Given the description of an element on the screen output the (x, y) to click on. 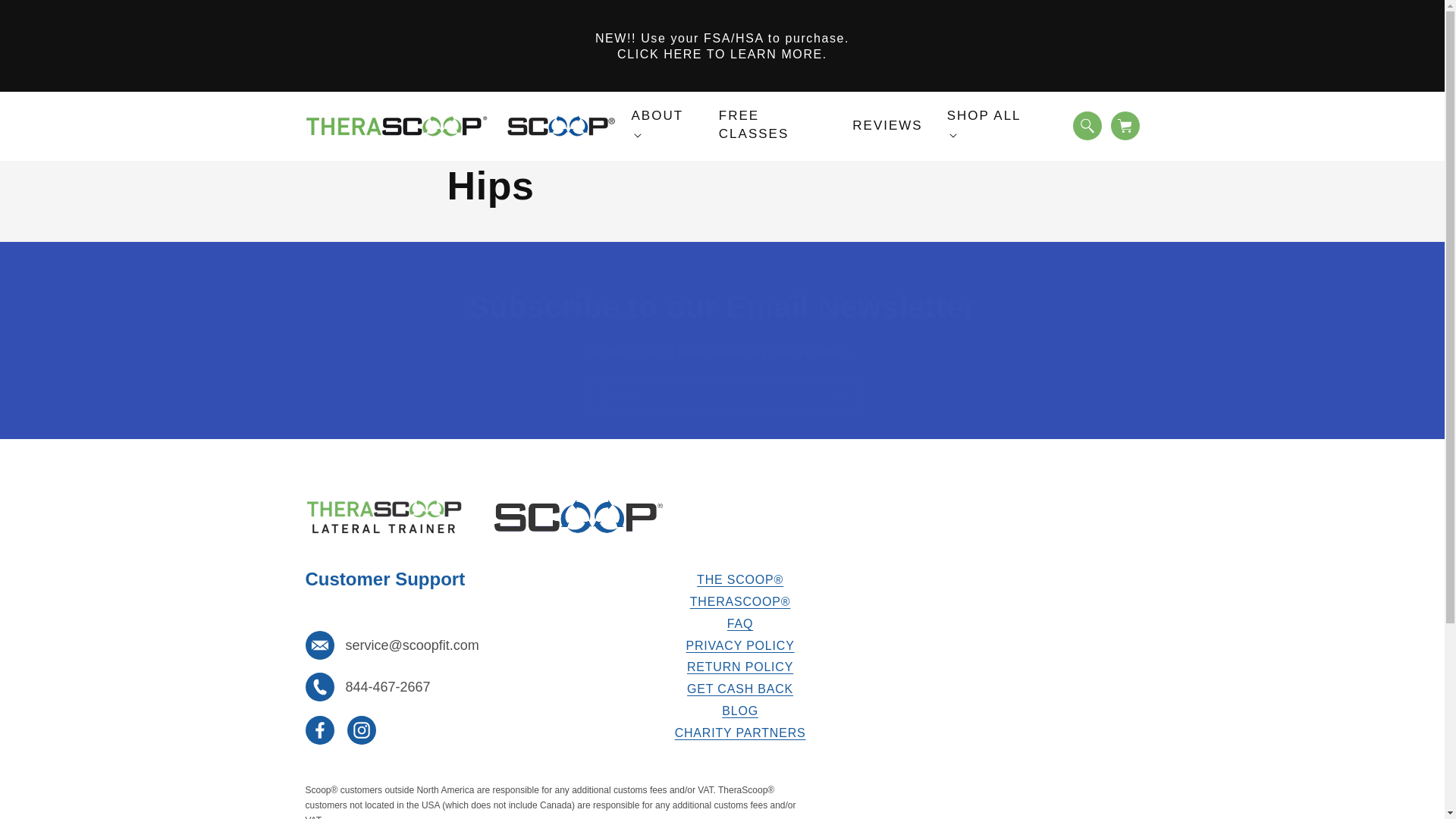
REVIEWS (886, 126)
Be the first to know about exclusive offers. (722, 352)
FREE CLASSES (773, 125)
Subscribe to our Email Newsletter (721, 306)
Email (722, 396)
Hips (721, 186)
Skip to content (45, 17)
